Given the description of an element on the screen output the (x, y) to click on. 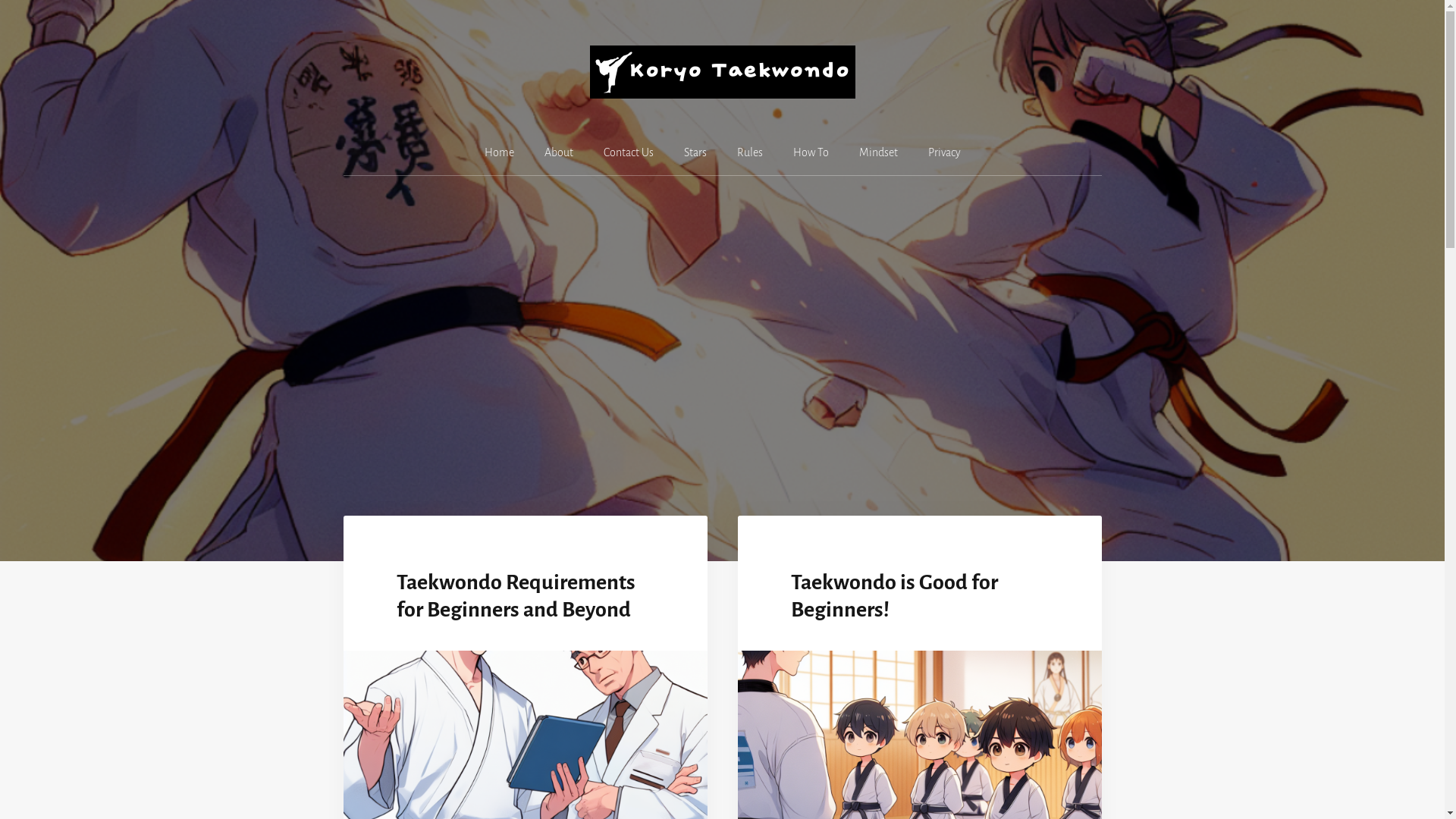
How To Element type: text (811, 152)
Taekwondo is Good for Beginners! Element type: text (893, 596)
Stars Element type: text (694, 152)
Contact Us Element type: text (628, 152)
Privacy Element type: text (944, 152)
Home Element type: text (498, 152)
Mindset Element type: text (877, 152)
About Element type: text (558, 152)
Rules Element type: text (749, 152)
Taekwondo Requirements for Beginners and Beyond Element type: text (514, 596)
